Given the description of an element on the screen output the (x, y) to click on. 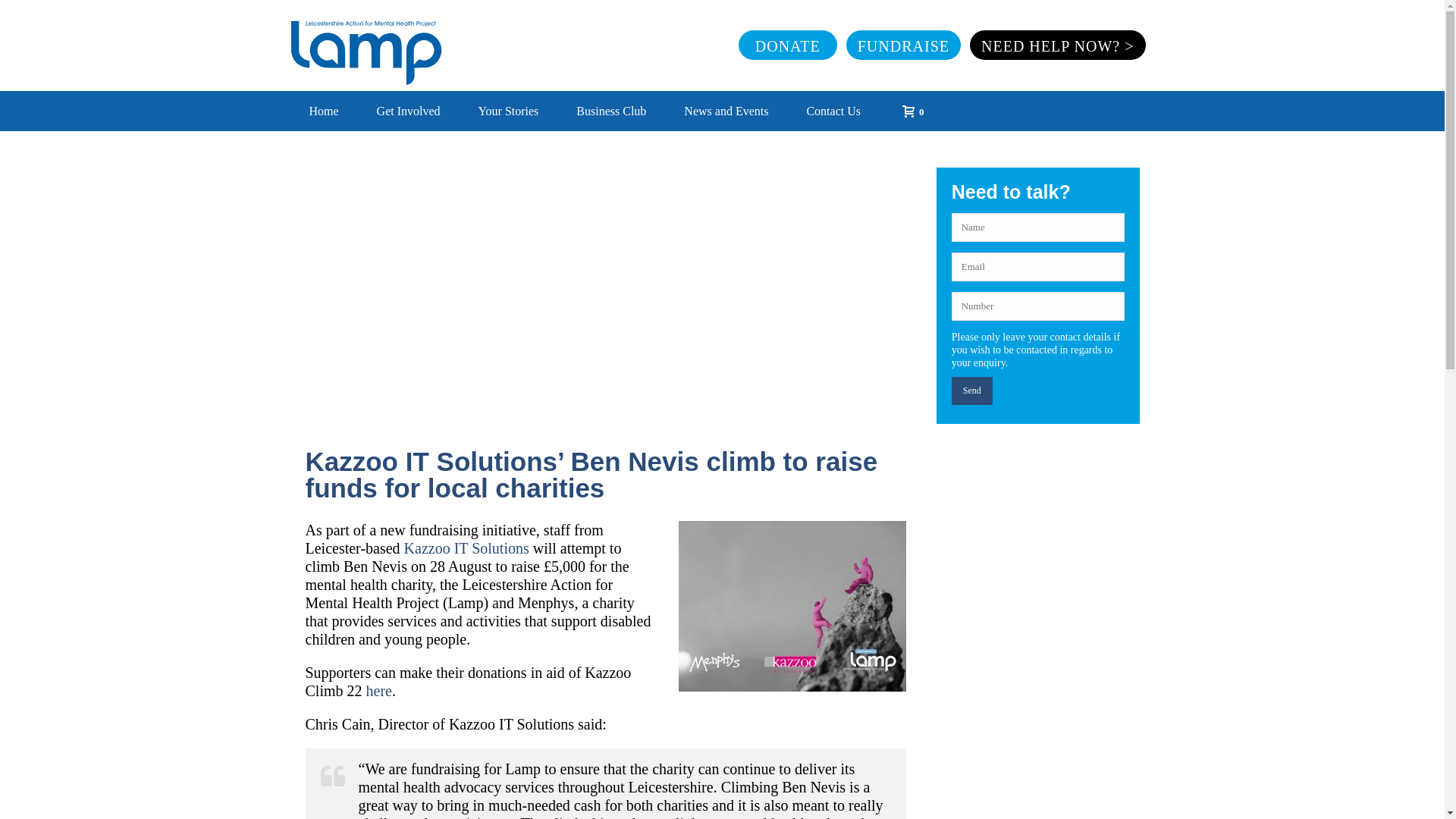
News and Events (726, 110)
Lamp Advocacy (365, 45)
News and Events (726, 110)
Send (972, 390)
0 (908, 109)
Business Club (611, 110)
Home (322, 110)
Get Involved (409, 110)
DONATE (787, 44)
Your Stories (508, 110)
